Given the description of an element on the screen output the (x, y) to click on. 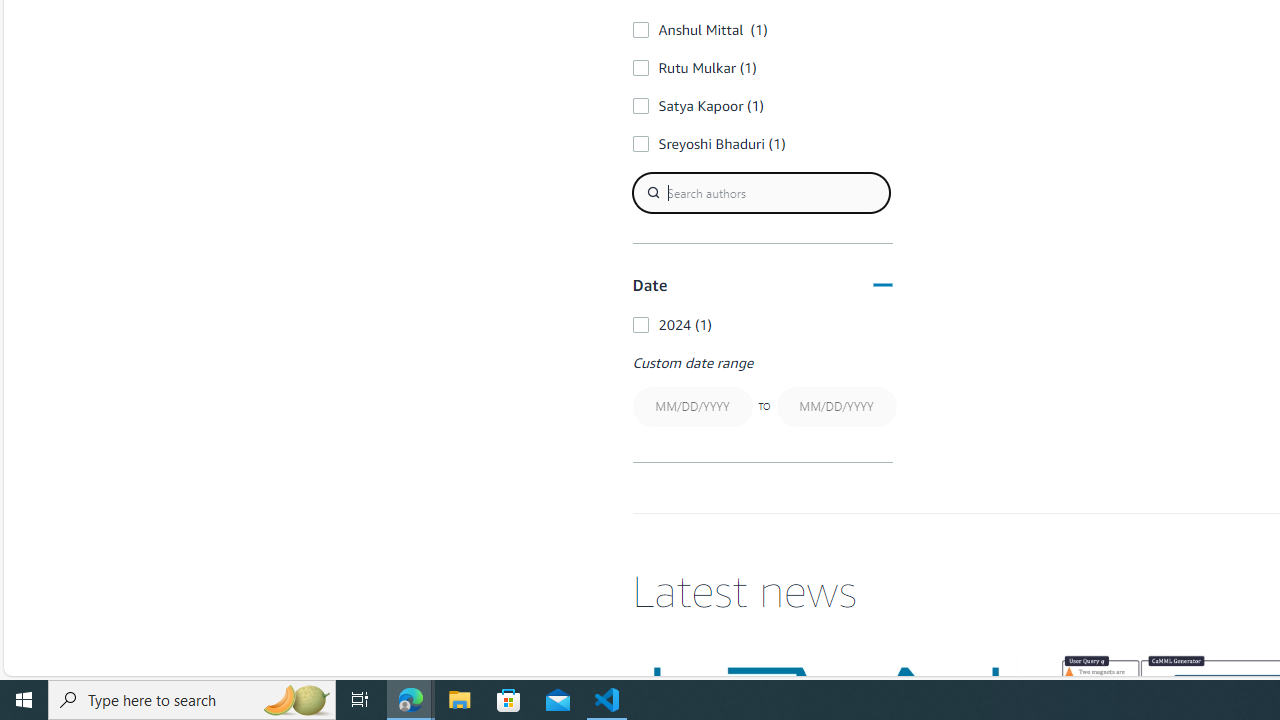
mm/dd/yyyy (836, 405)
Custom date rangeTO (762, 392)
Search authors (760, 192)
